Given the description of an element on the screen output the (x, y) to click on. 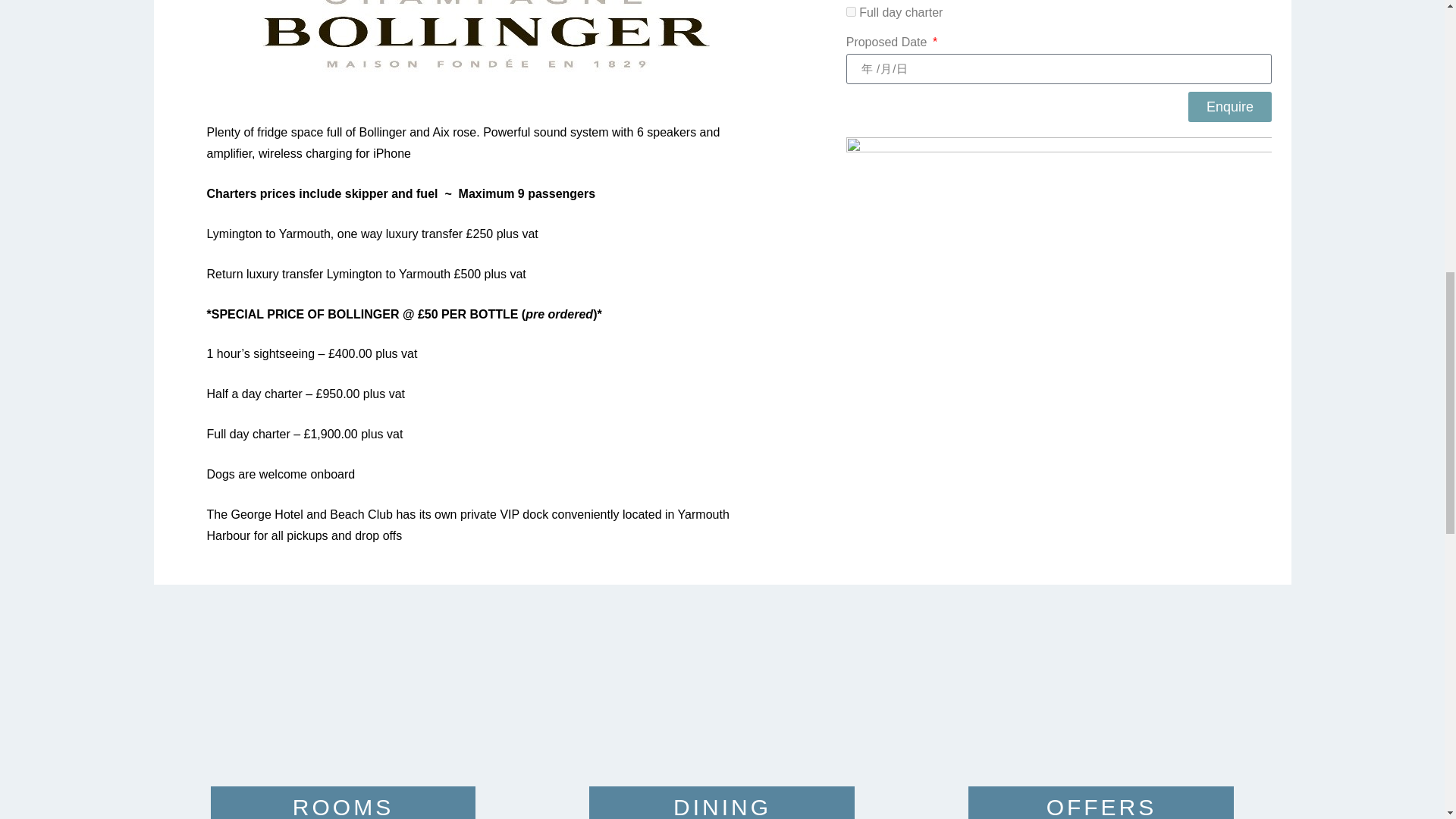
Enquire (1229, 106)
Full day charter (850, 11)
OFFERS (1101, 806)
DINING (721, 806)
ROOMS (342, 806)
